Given the description of an element on the screen output the (x, y) to click on. 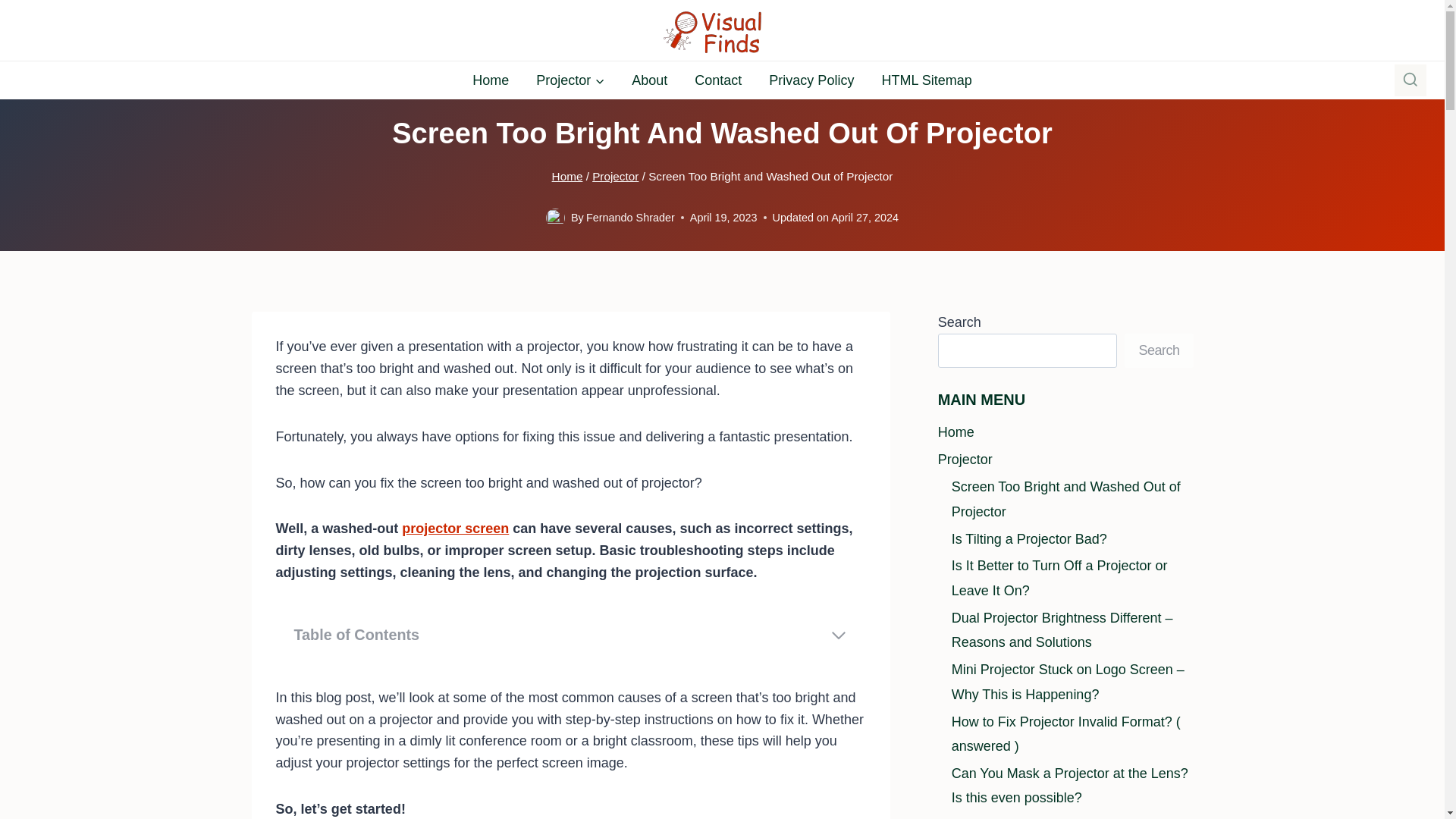
About (649, 80)
Fernando Shrader (630, 217)
Projector (569, 80)
Projector (615, 175)
Privacy Policy (811, 80)
HTML Sitemap (926, 80)
Home (490, 80)
Contact (718, 80)
Home (567, 175)
Table of Contents (570, 635)
